Given the description of an element on the screen output the (x, y) to click on. 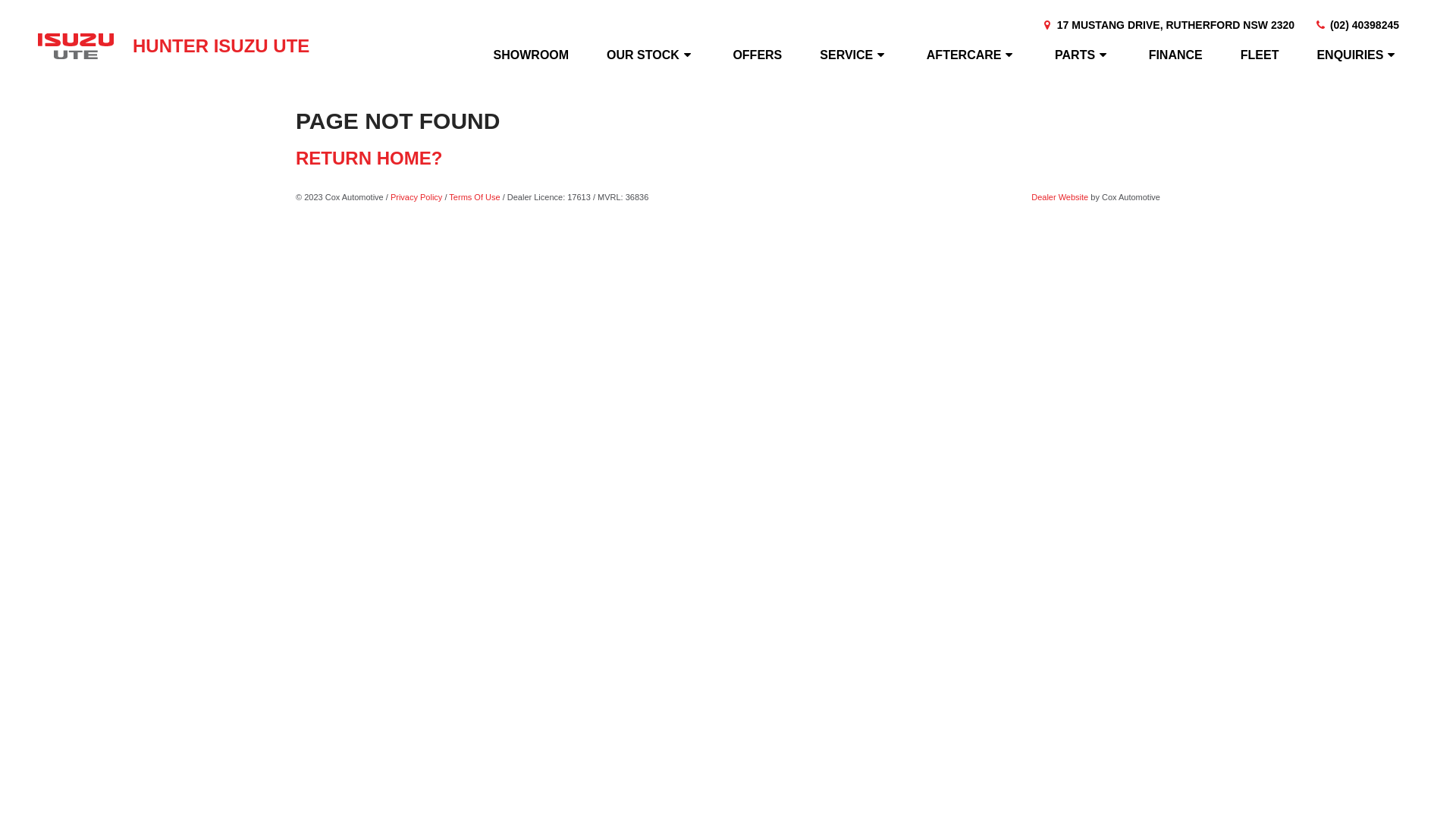
ENQUIRIES Element type: text (1357, 55)
17 MUSTANG DRIVE, RUTHERFORD NSW 2320 Element type: text (1167, 24)
(02) 40398245 Element type: text (1356, 24)
PARTS Element type: text (1082, 55)
RETURN HOME? Element type: text (368, 157)
Privacy Policy Element type: text (416, 196)
Terms Of Use Element type: text (473, 196)
AFTERCARE Element type: text (971, 55)
FINANCE Element type: text (1175, 55)
OFFERS Element type: text (756, 55)
FLEET Element type: text (1259, 55)
SERVICE Element type: text (853, 55)
Dealer Website Element type: text (1059, 196)
OUR STOCK Element type: text (650, 55)
SHOWROOM Element type: text (533, 55)
